Given the description of an element on the screen output the (x, y) to click on. 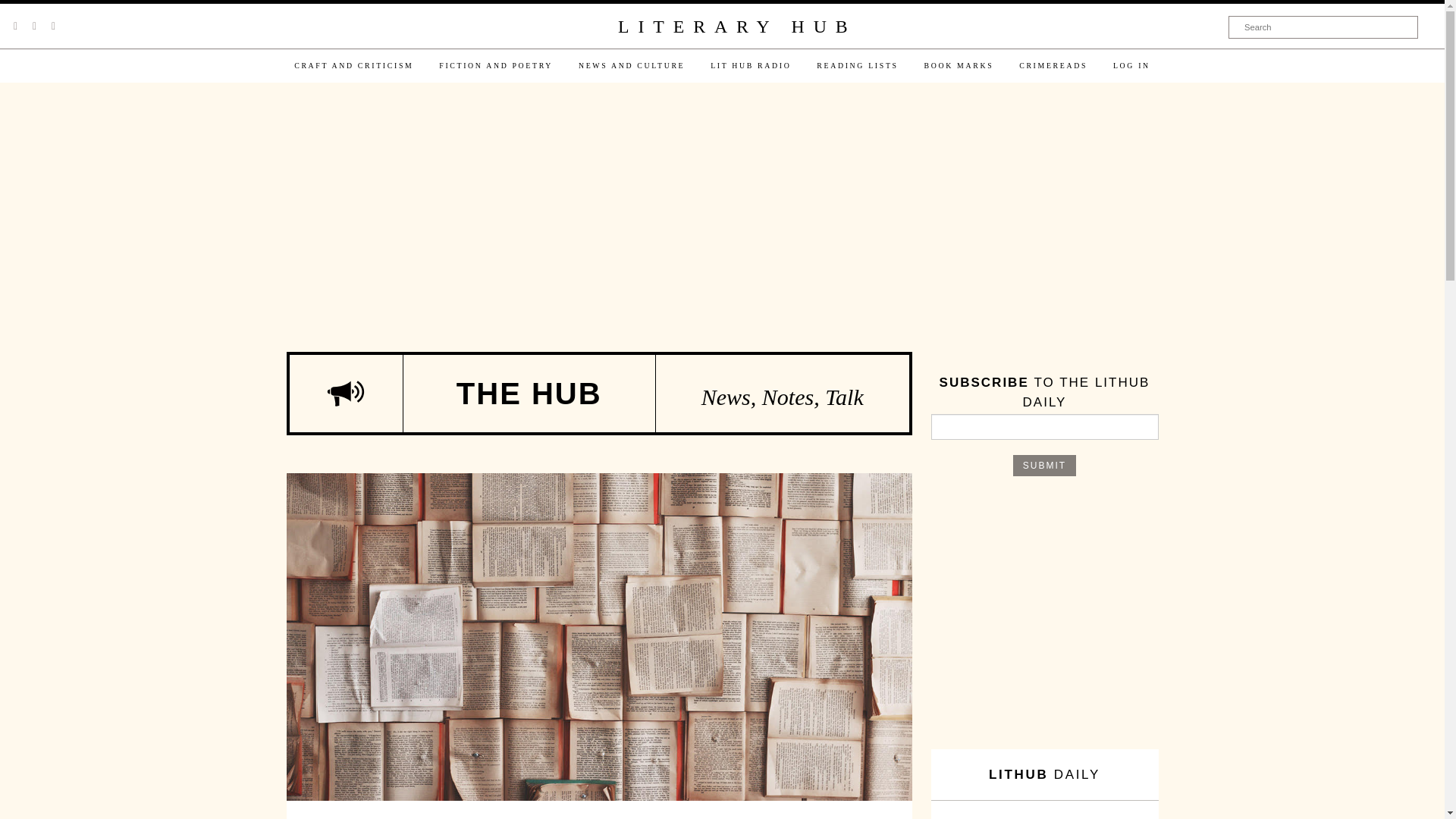
NEWS AND CULTURE (631, 65)
CRAFT AND CRITICISM (353, 65)
LITERARY HUB (736, 26)
Search (1323, 26)
FICTION AND POETRY (496, 65)
